Given the description of an element on the screen output the (x, y) to click on. 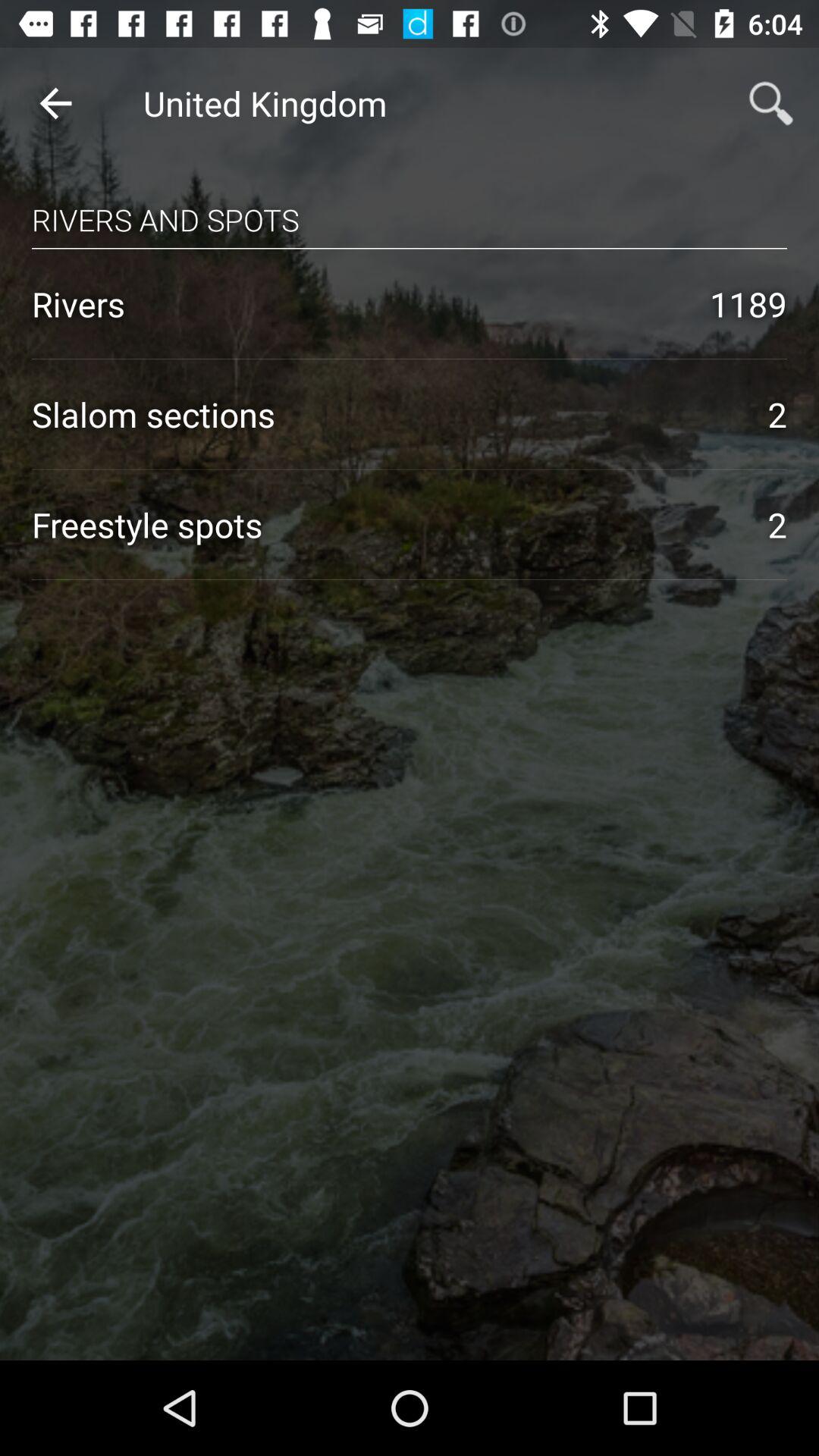
press rivers and spots icon (409, 205)
